Given the description of an element on the screen output the (x, y) to click on. 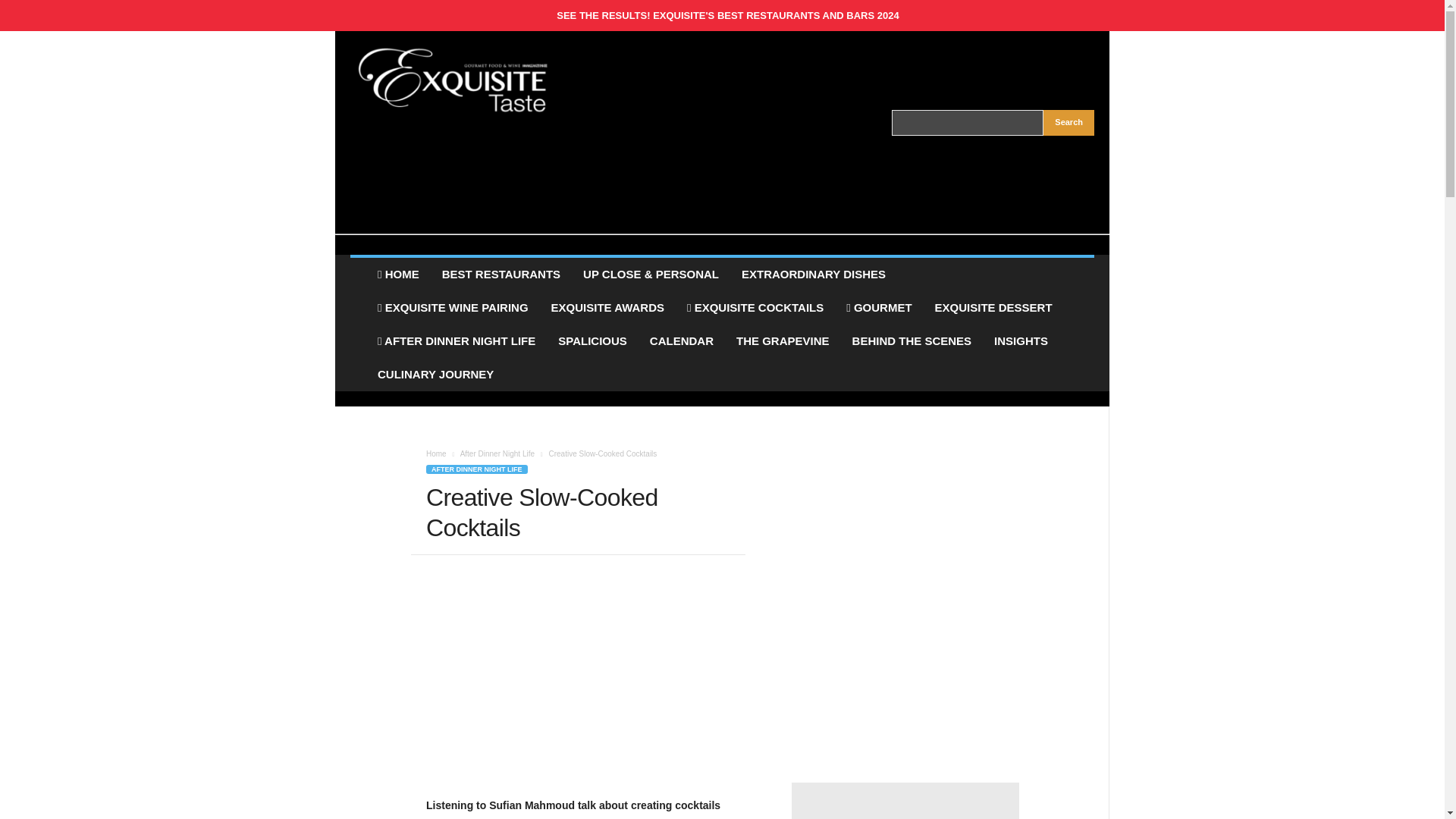
Search (1068, 122)
Exquisite Taste (453, 79)
